Given the description of an element on the screen output the (x, y) to click on. 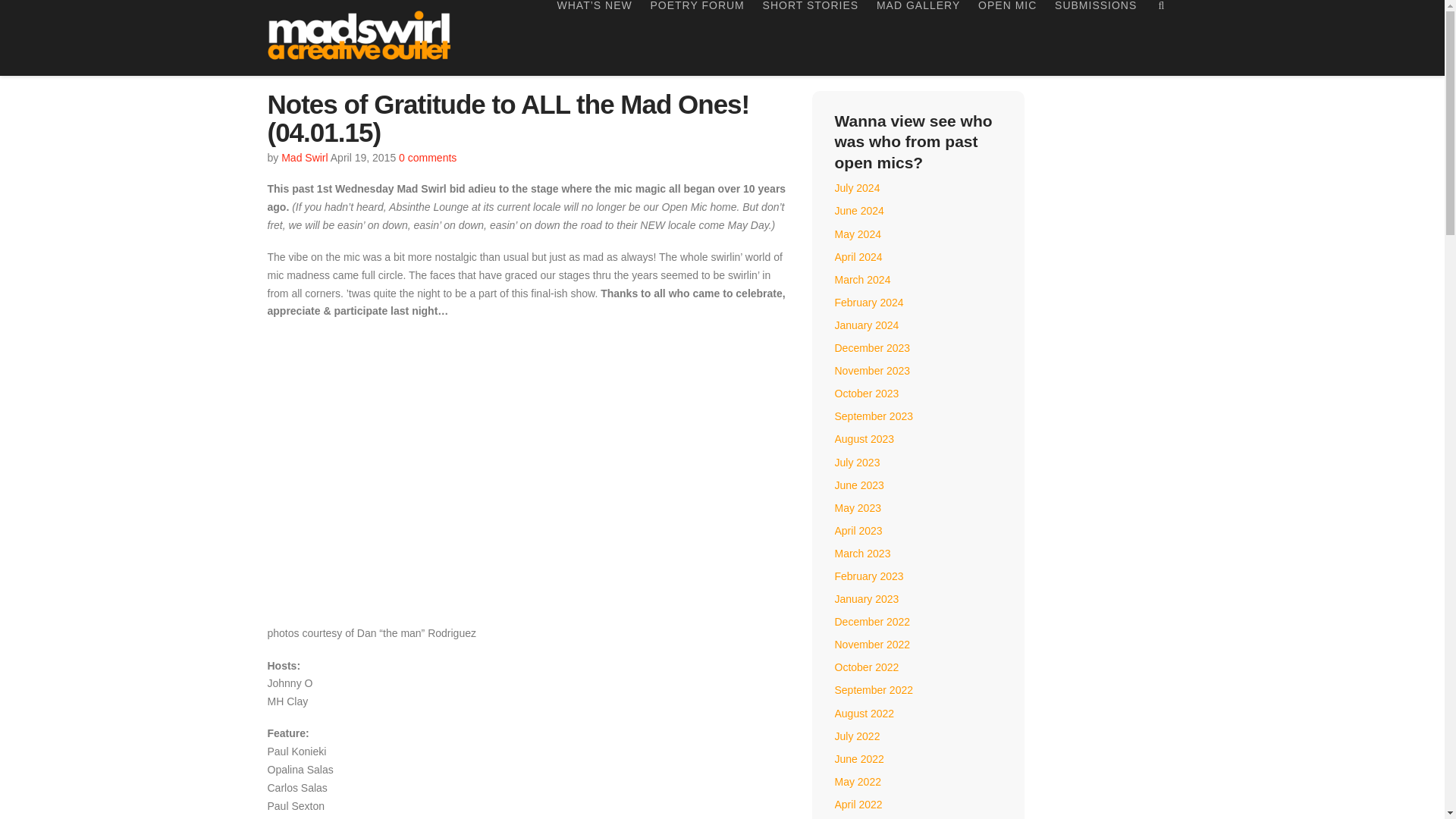
0 comments (427, 157)
January 2023 (866, 598)
SUBMISSIONS (1095, 38)
MAD GALLERY (918, 38)
August 2023 (863, 439)
May 2023 (857, 508)
January 2024 (866, 325)
June 2024 (858, 210)
February 2024 (868, 302)
post comments (427, 157)
July 2024 (856, 187)
June 2023 (858, 485)
December 2023 (872, 347)
December 2022 (872, 621)
October 2023 (866, 393)
